Given the description of an element on the screen output the (x, y) to click on. 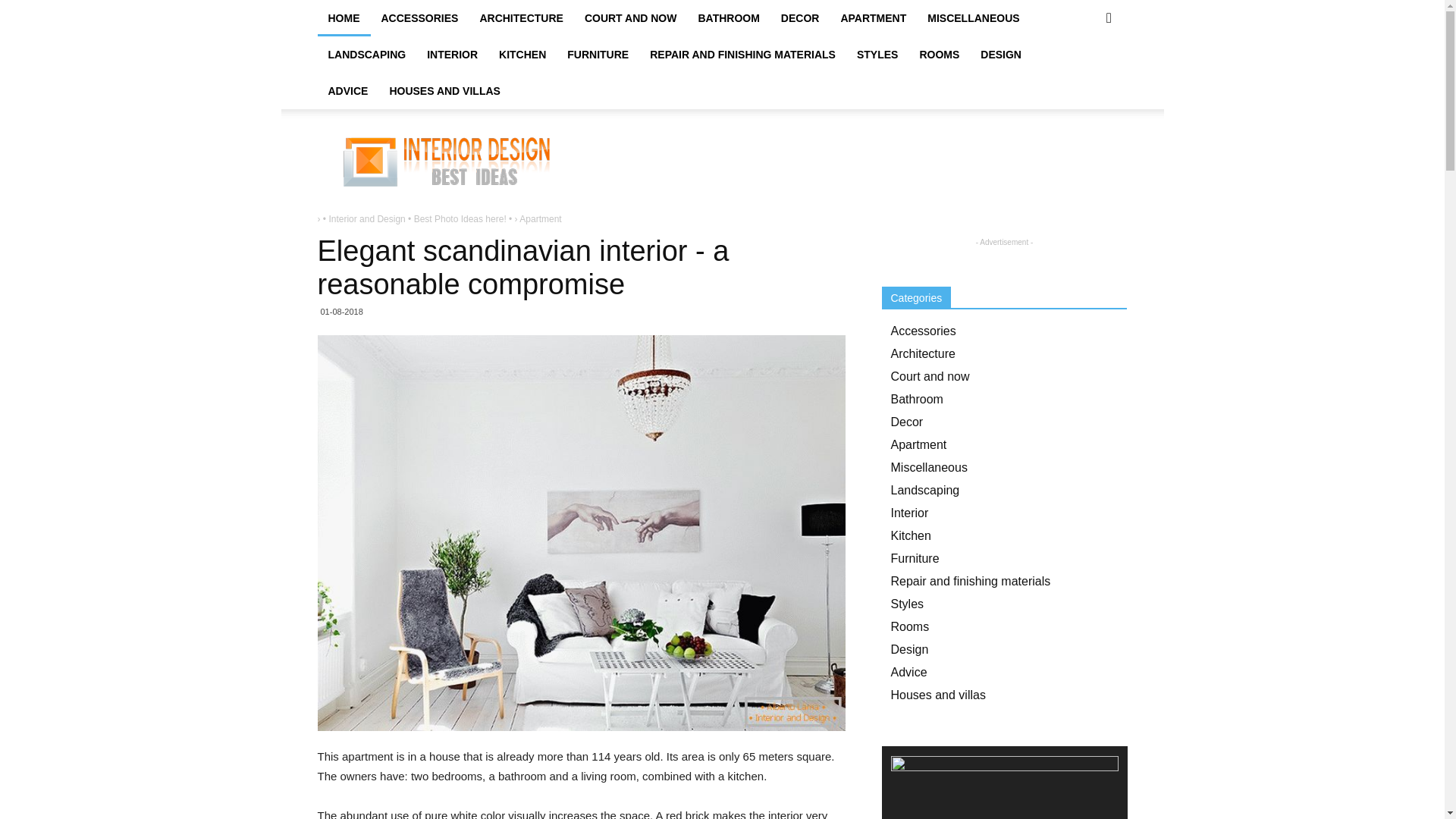
LANDSCAPING (366, 54)
ACCESSORIES (418, 18)
BATHROOM (728, 18)
DECOR (799, 18)
FURNITURE (597, 54)
MISCELLANEOUS (973, 18)
COURT AND NOW (630, 18)
ARCHITECTURE (520, 18)
REPAIR AND FINISHING MATERIALS (742, 54)
APARTMENT (873, 18)
KITCHEN (521, 54)
INTERIOR (451, 54)
HOME (343, 18)
